Given the description of an element on the screen output the (x, y) to click on. 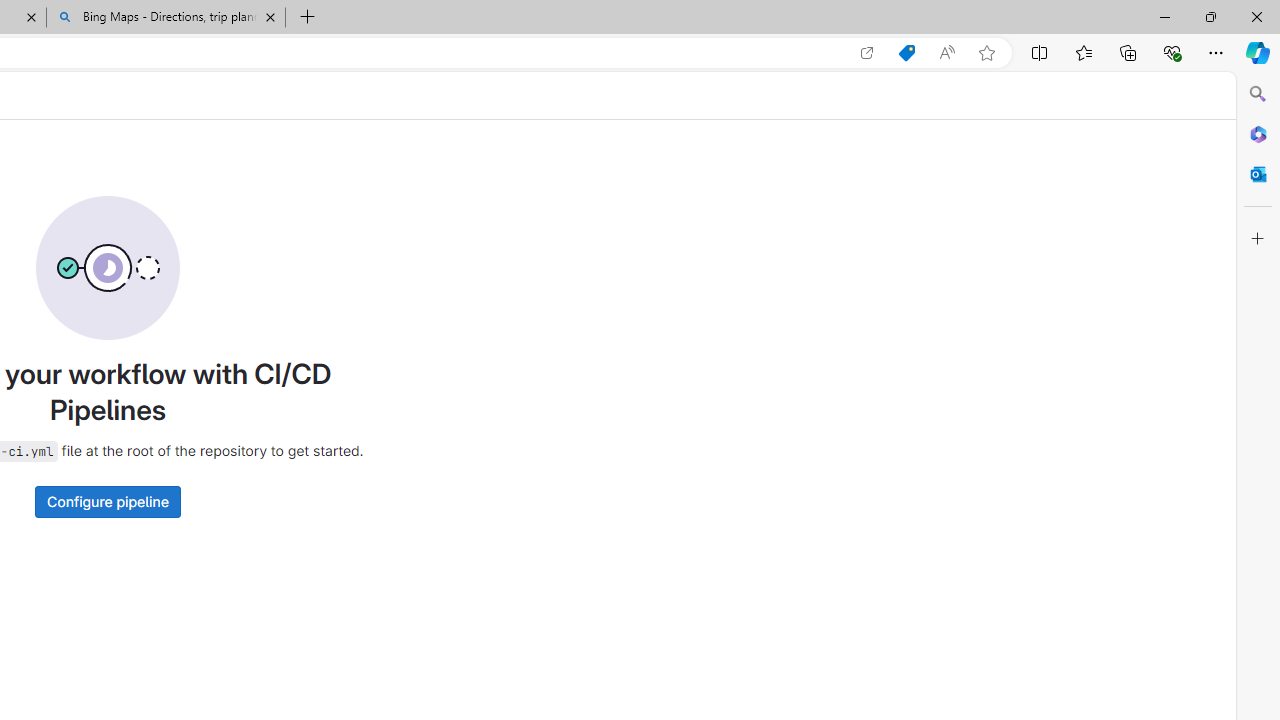
Open in app (867, 53)
